Given the description of an element on the screen output the (x, y) to click on. 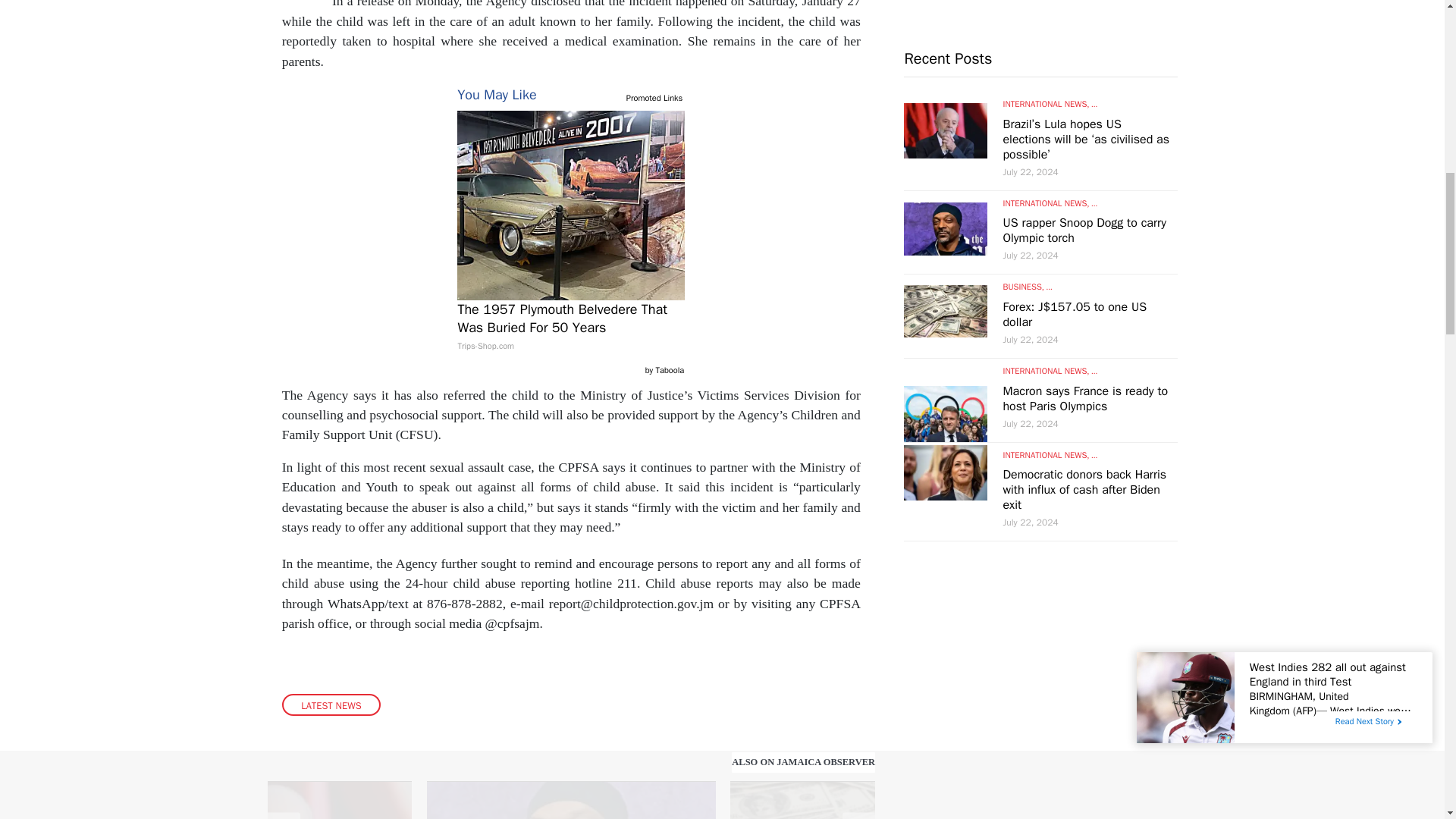
The 1957 Plymouth Belvedere That Was Buried For 50 Years (570, 327)
